Given the description of an element on the screen output the (x, y) to click on. 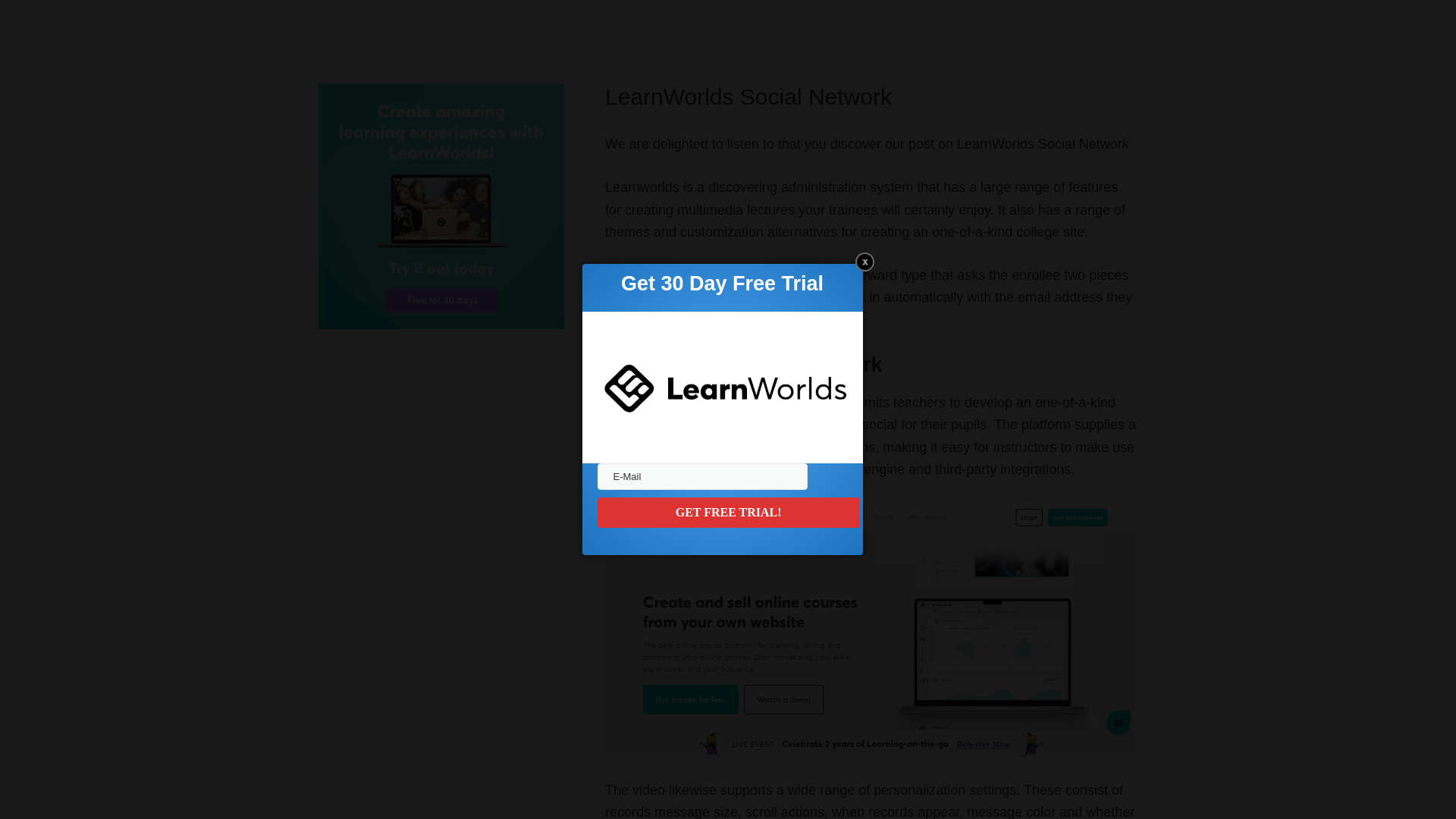
GET FREE TRIAL! (728, 512)
GET FREE TRIAL! (728, 512)
